Given the description of an element on the screen output the (x, y) to click on. 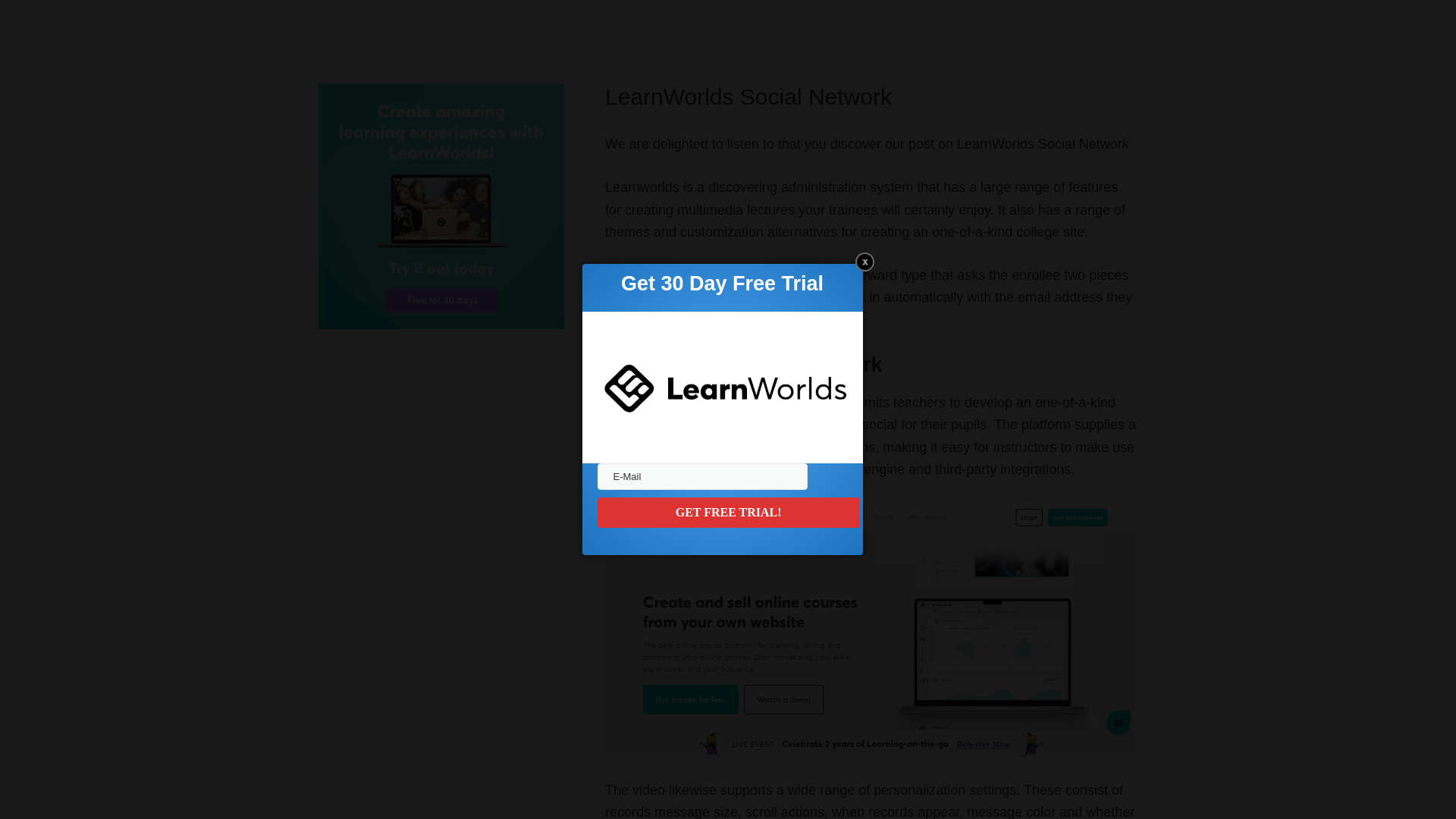
GET FREE TRIAL! (728, 512)
GET FREE TRIAL! (728, 512)
